Given the description of an element on the screen output the (x, y) to click on. 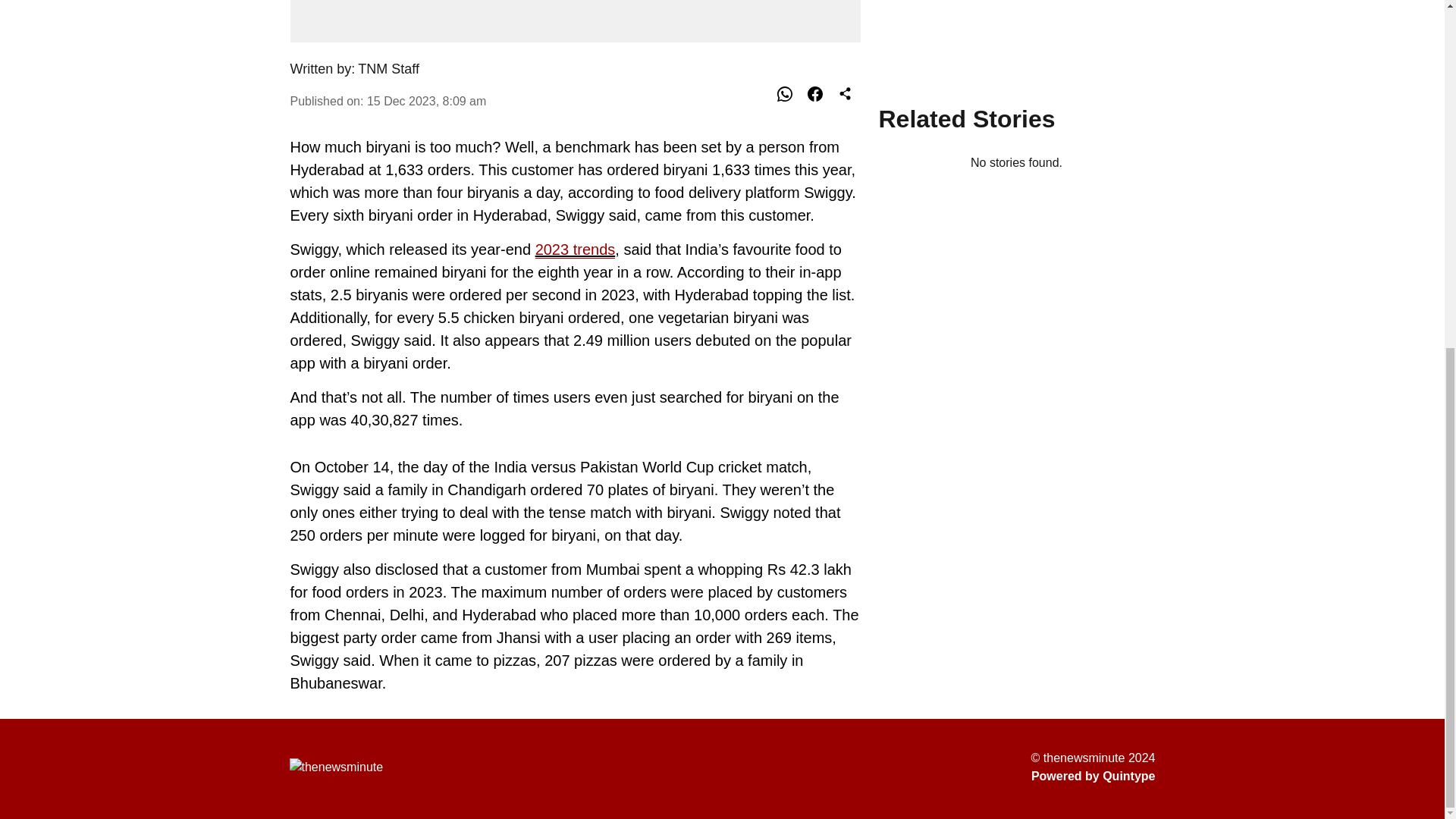
TNM Staff (388, 68)
Powered by Quintype (1093, 776)
2023 trends (575, 249)
2023-12-15 08:09 (426, 100)
